Given the description of an element on the screen output the (x, y) to click on. 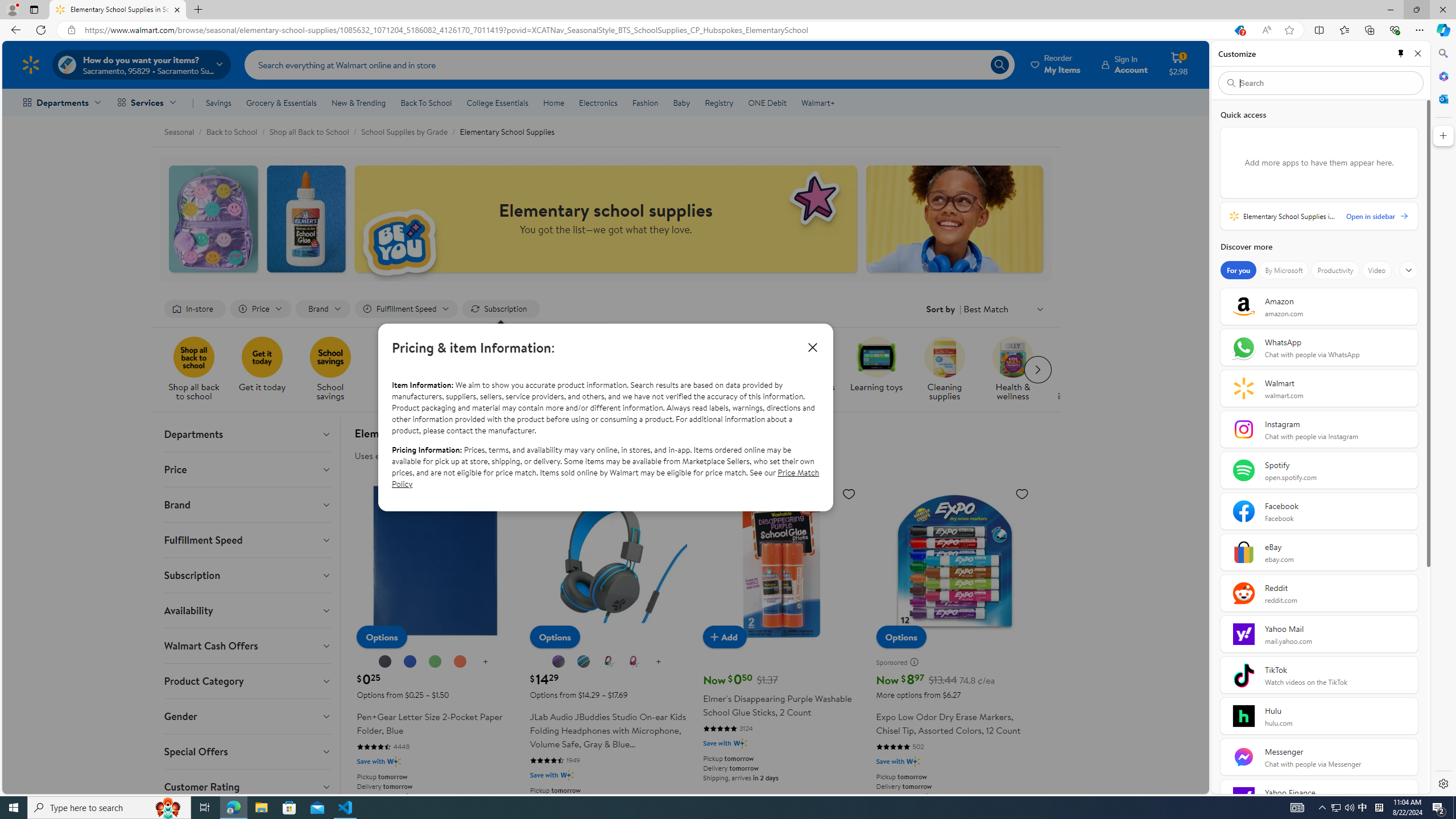
Productivity (1334, 270)
Show more (1408, 270)
This site has coupons! Shopping in Microsoft Edge, 7 (1239, 29)
